Given the description of an element on the screen output the (x, y) to click on. 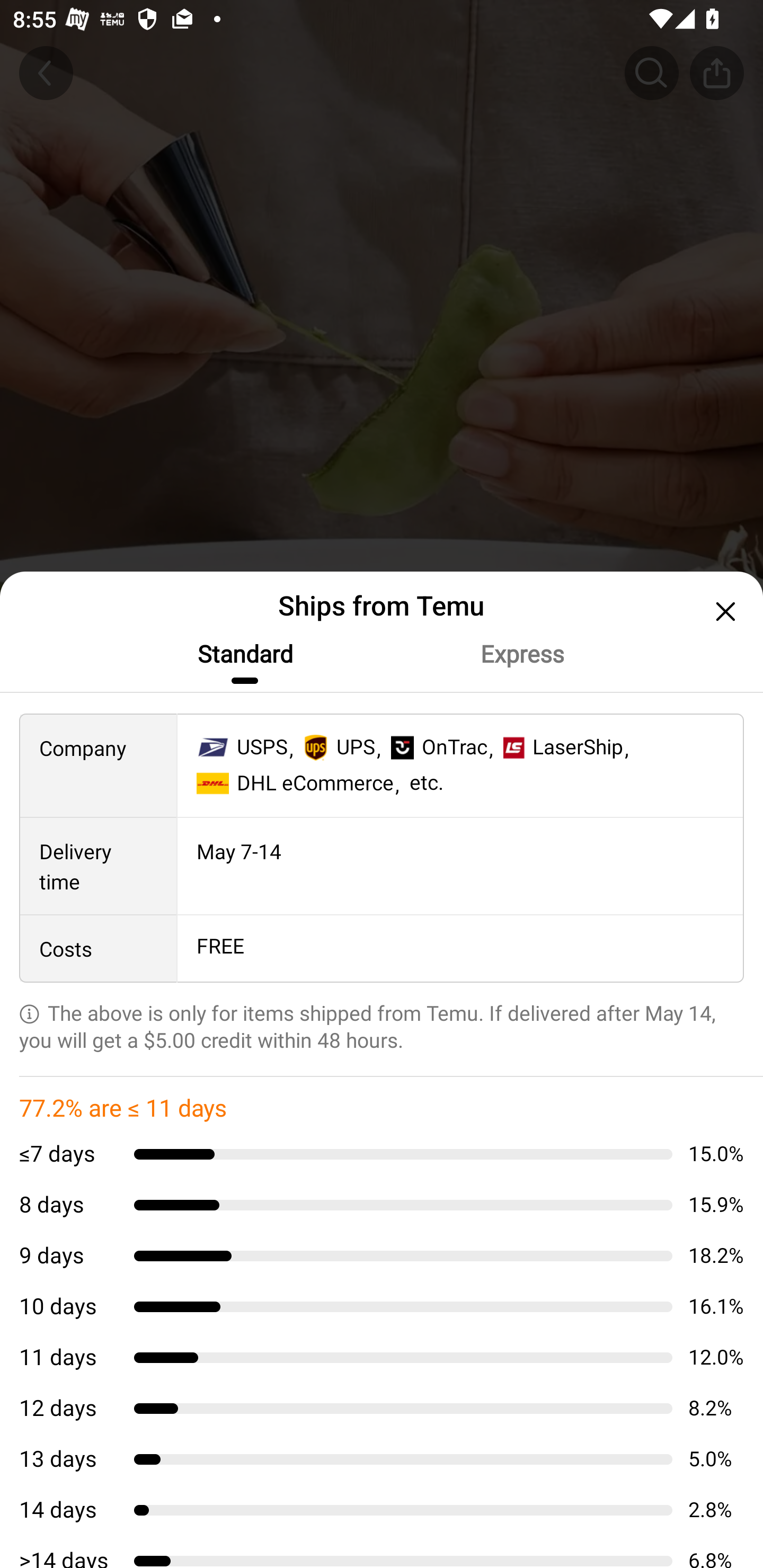
close (723, 611)
Standard (244, 653)
Express (521, 653)
Ships from Temu (381, 1217)
